Given the description of an element on the screen output the (x, y) to click on. 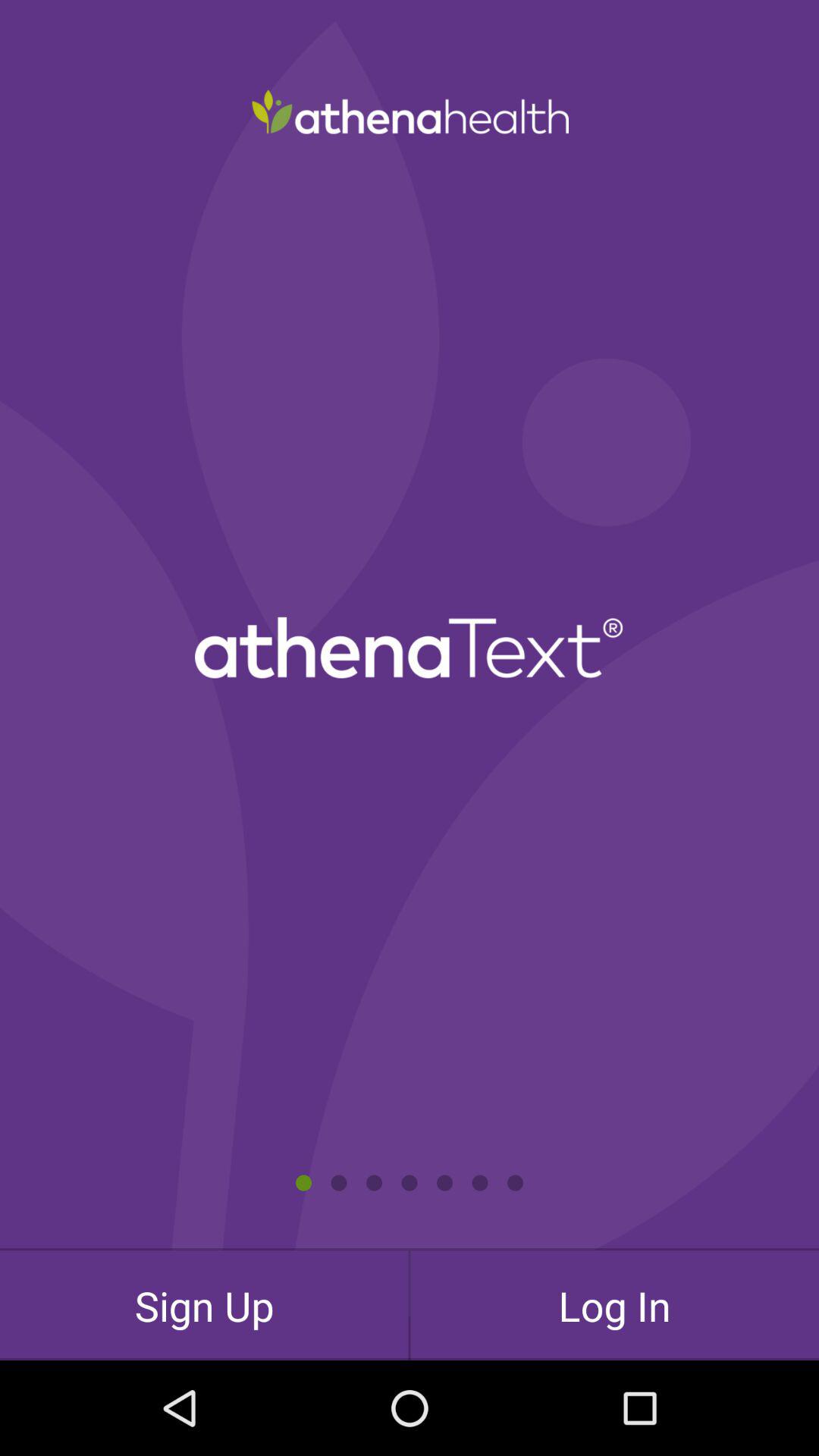
click sign up at the bottom left corner (204, 1305)
